Given the description of an element on the screen output the (x, y) to click on. 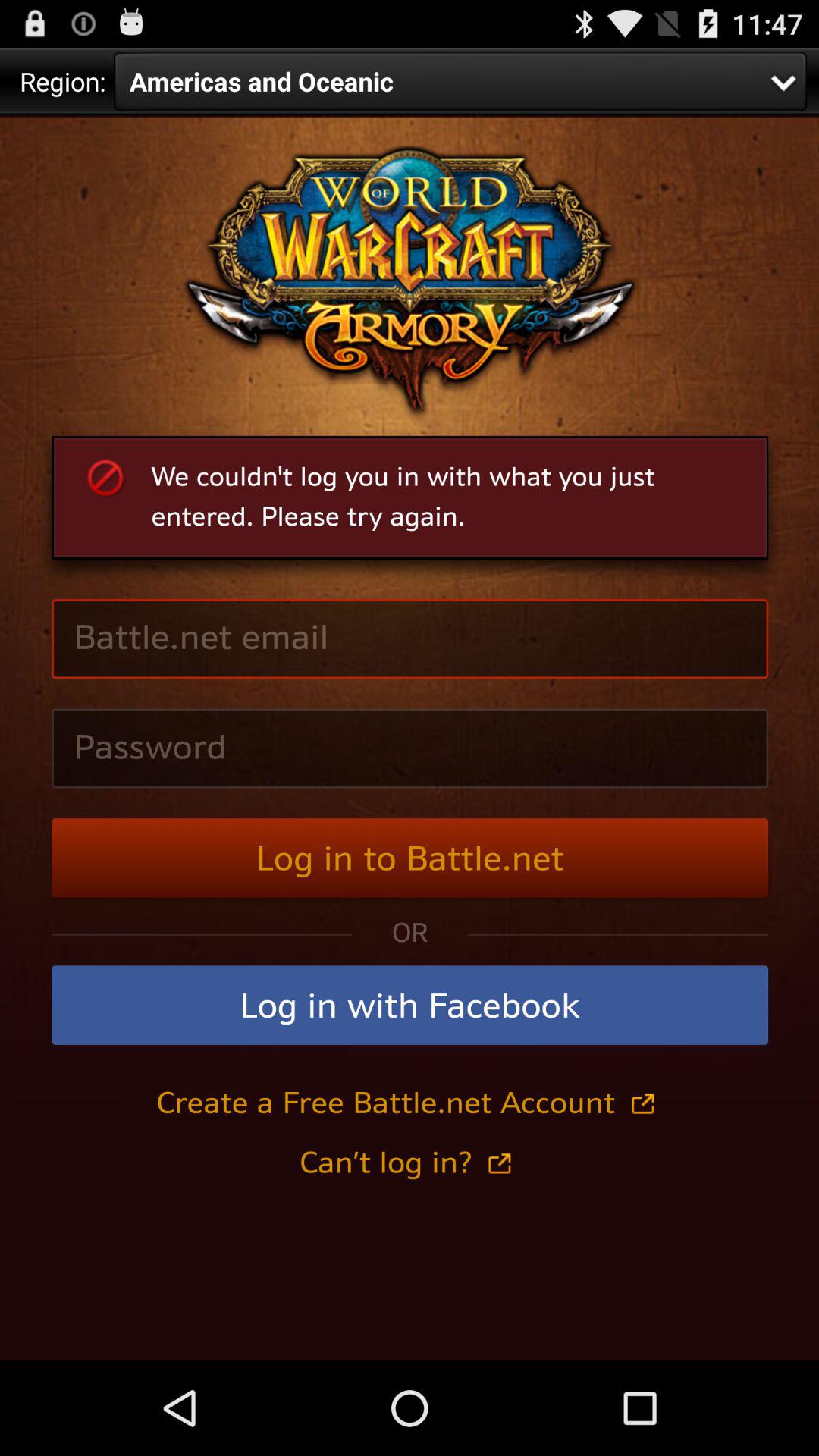
login page (409, 737)
